Given the description of an element on the screen output the (x, y) to click on. 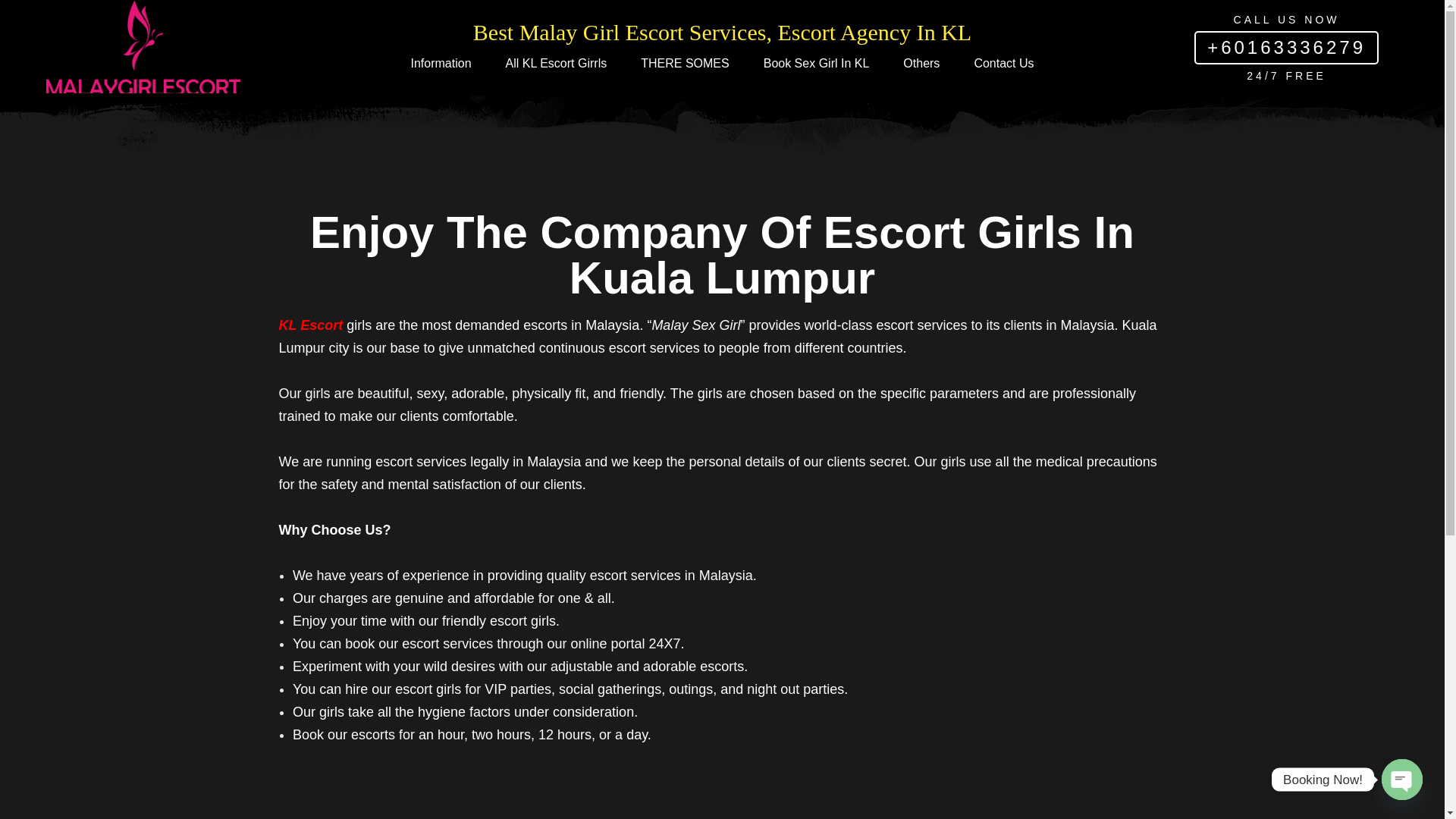
Book Sex Girl In KL (815, 63)
Others (920, 63)
KL Escort (311, 324)
Contact Us (1003, 63)
Book Sex Girl In KL (815, 63)
THERE SOMES (684, 63)
Others (920, 63)
Information (440, 63)
All KL Escort Girrls (556, 63)
All KL Escort Girrls (556, 63)
